Given the description of an element on the screen output the (x, y) to click on. 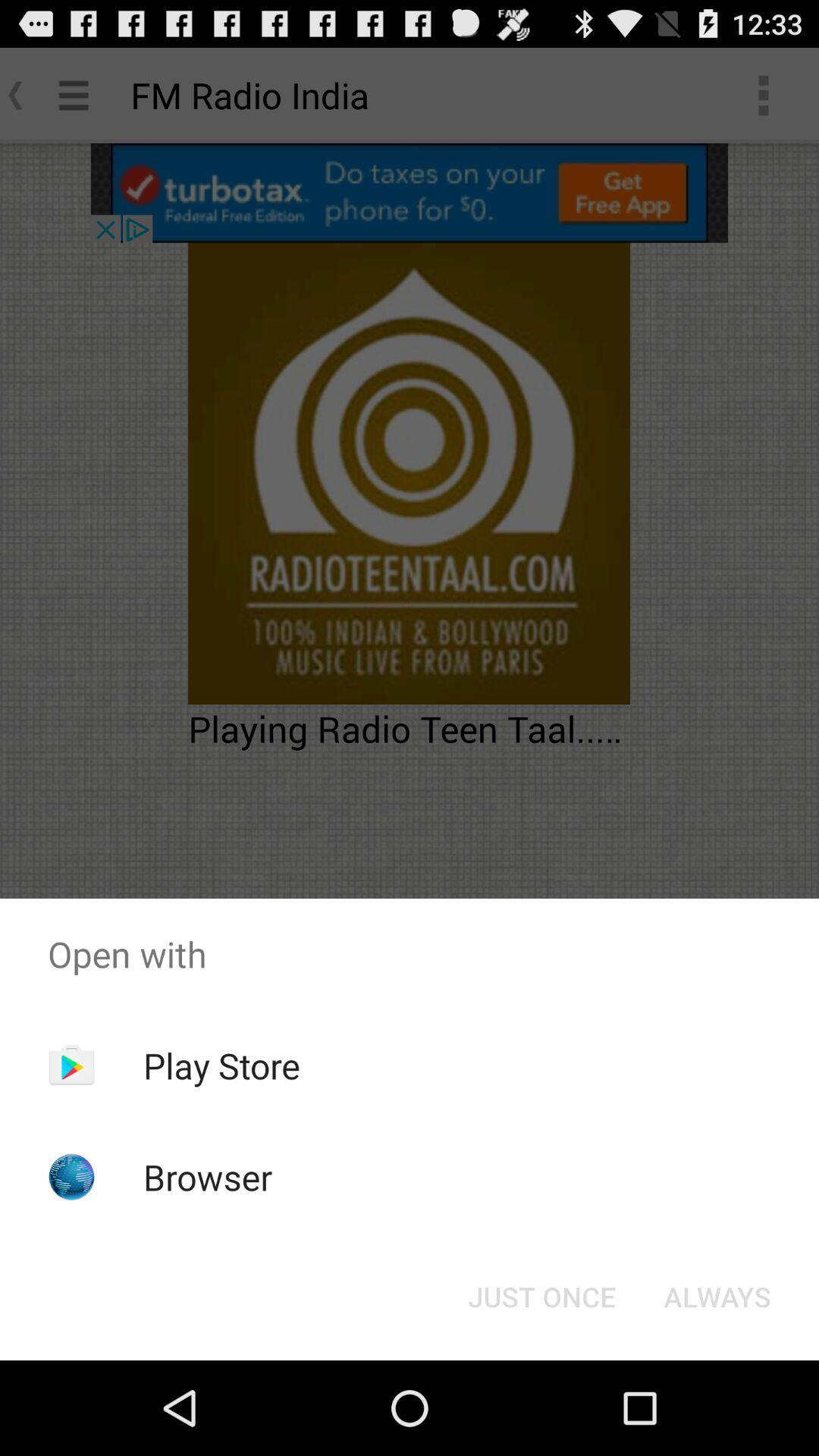
choose the icon below open with (541, 1296)
